Given the description of an element on the screen output the (x, y) to click on. 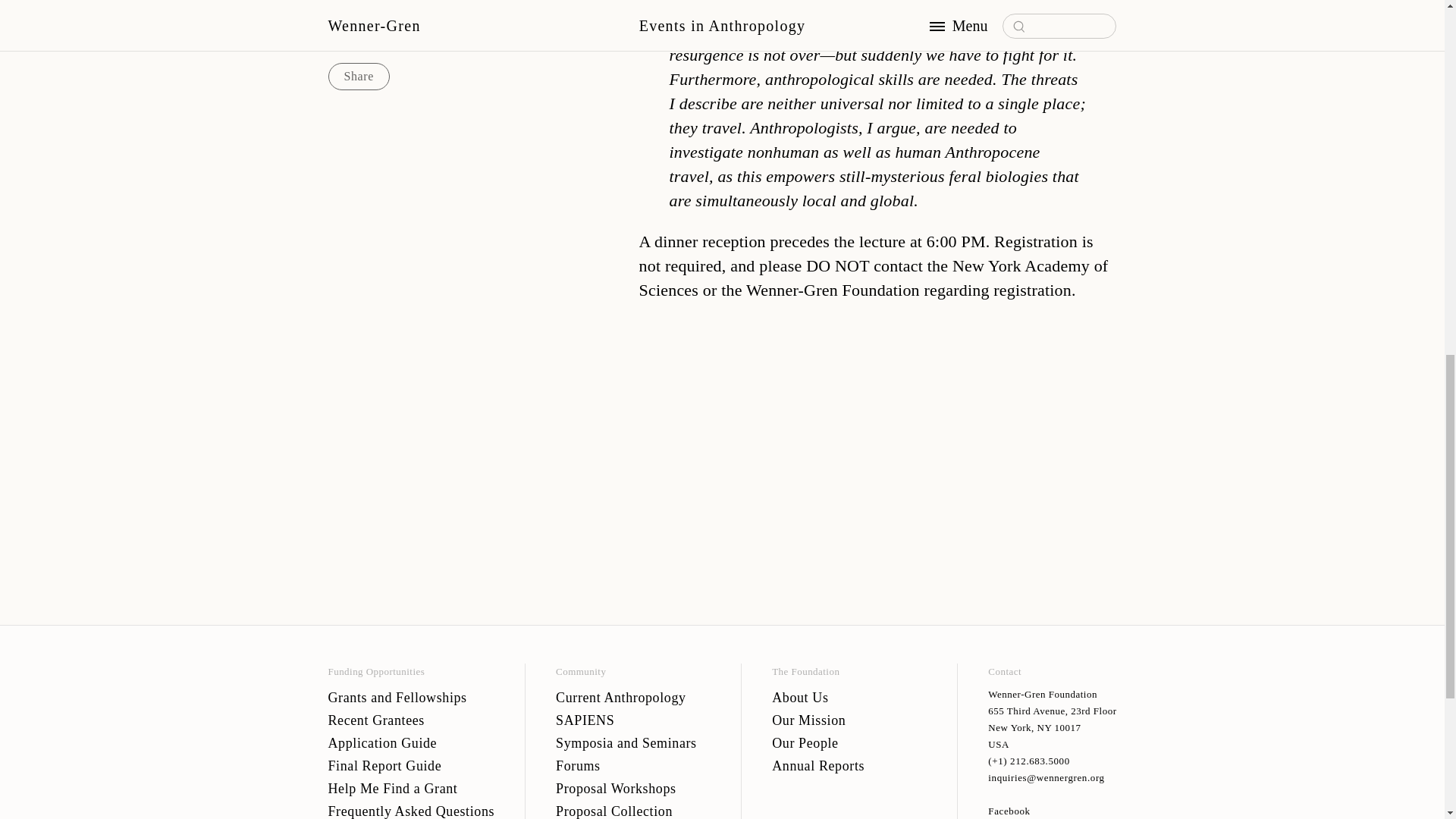
Recent Grantees (411, 719)
Application Guide (411, 742)
Grants and Fellowships (411, 696)
Final Report Guide (411, 764)
facebook (1052, 810)
Frequently Asked Questions (411, 809)
Current Anthropology (633, 696)
SAPIENS (633, 719)
Help Me Find a Grant (411, 787)
